Given the description of an element on the screen output the (x, y) to click on. 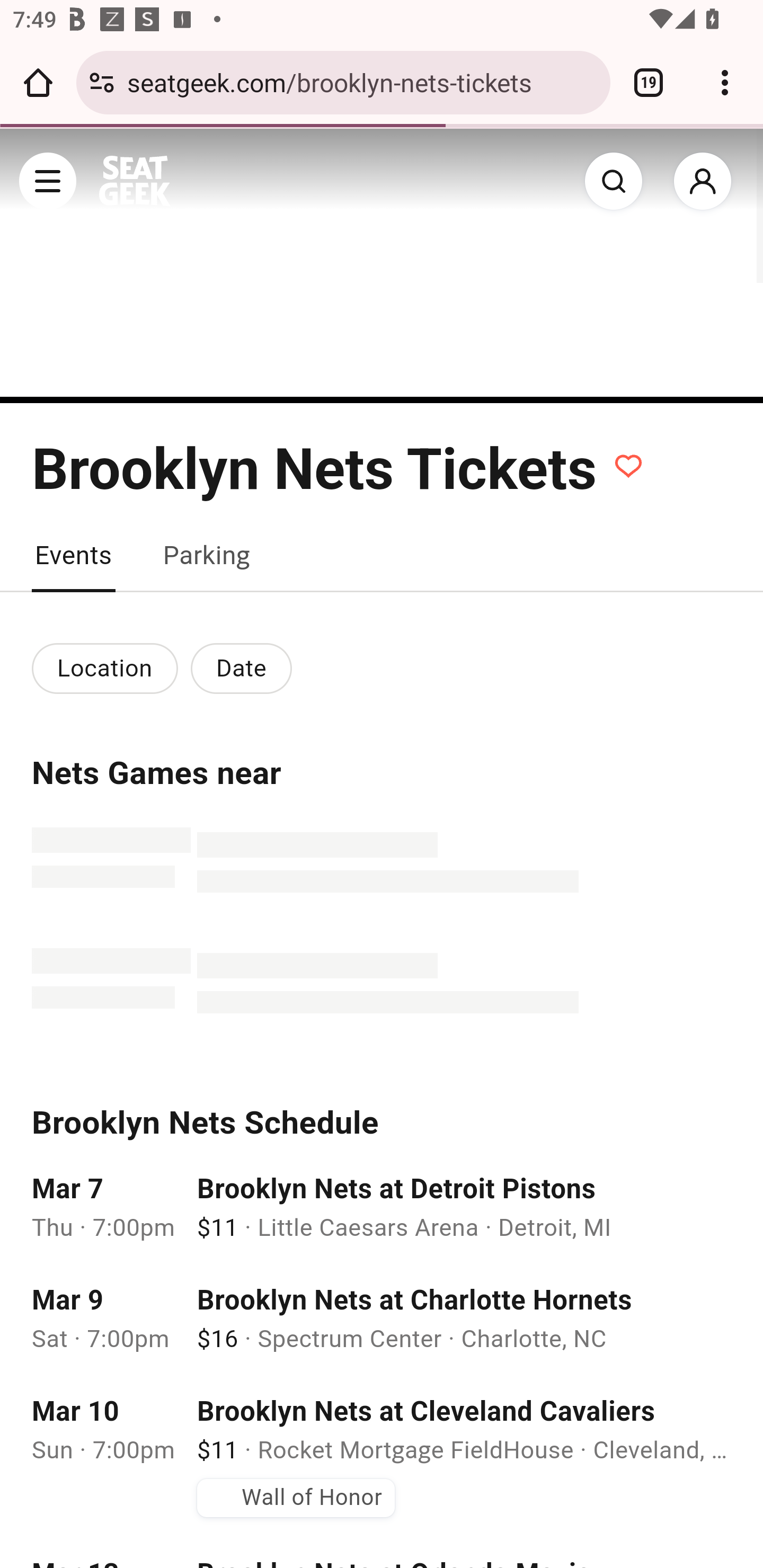
Open the home page (38, 82)
Connection is secure (101, 82)
Switch or close tabs (648, 82)
Customize and control Google Chrome (724, 82)
seatgeek.com/brooklyn-nets-tickets (362, 82)
Homepage (135, 180)
Click to track Brooklyn Nets. (631, 466)
Events (74, 554)
Parking (209, 554)
Location (107, 667)
Date (247, 667)
